Given the description of an element on the screen output the (x, y) to click on. 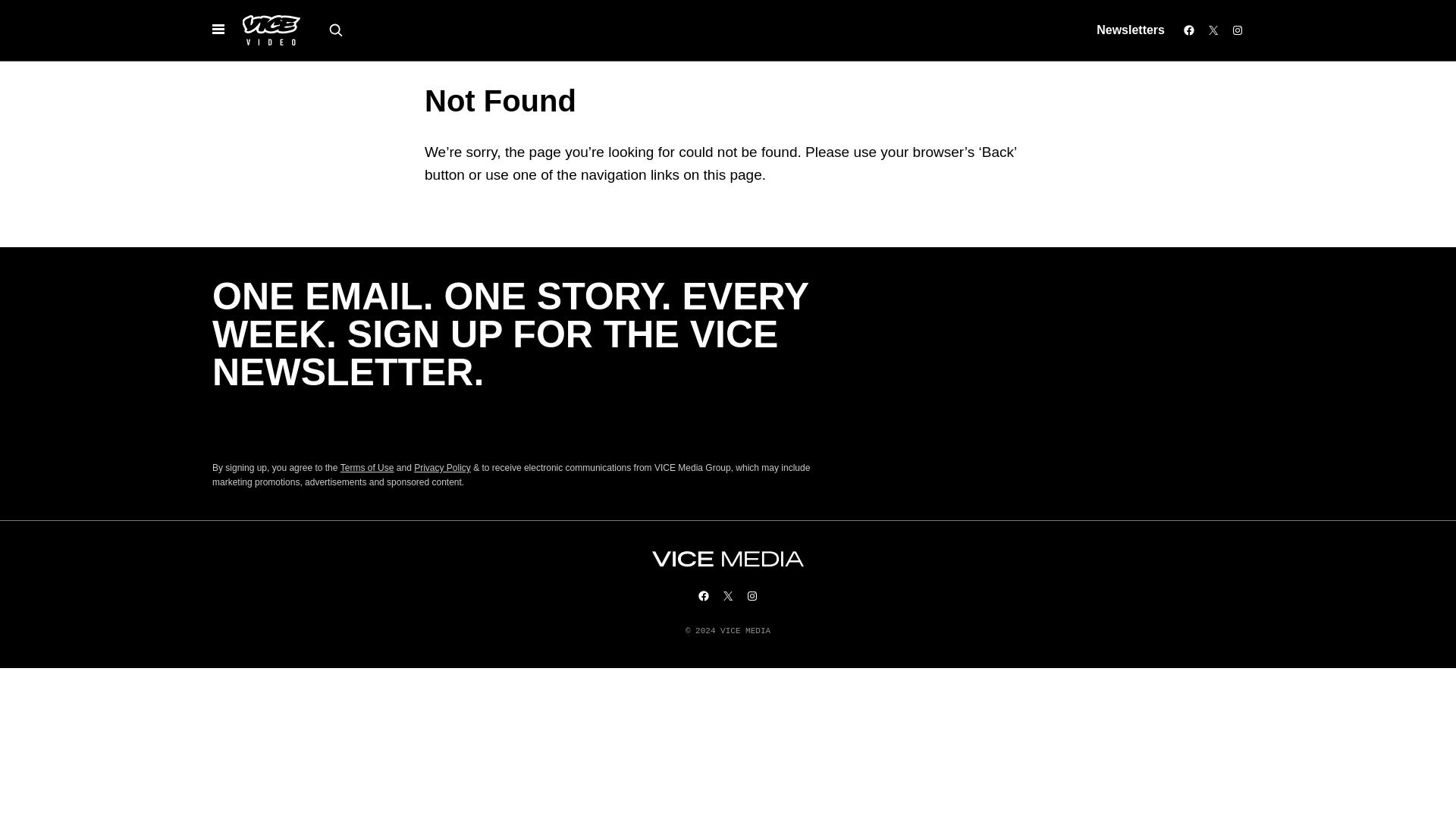
X (1213, 30)
Privacy Policy (441, 467)
Instagram (1237, 30)
FACEBOOK (703, 595)
Terms of Use (367, 467)
Newsletter Signup Form (515, 425)
INSTAGRAM (751, 595)
VICE MEDIA (727, 559)
X (727, 595)
Facebook (1188, 30)
